Given the description of an element on the screen output the (x, y) to click on. 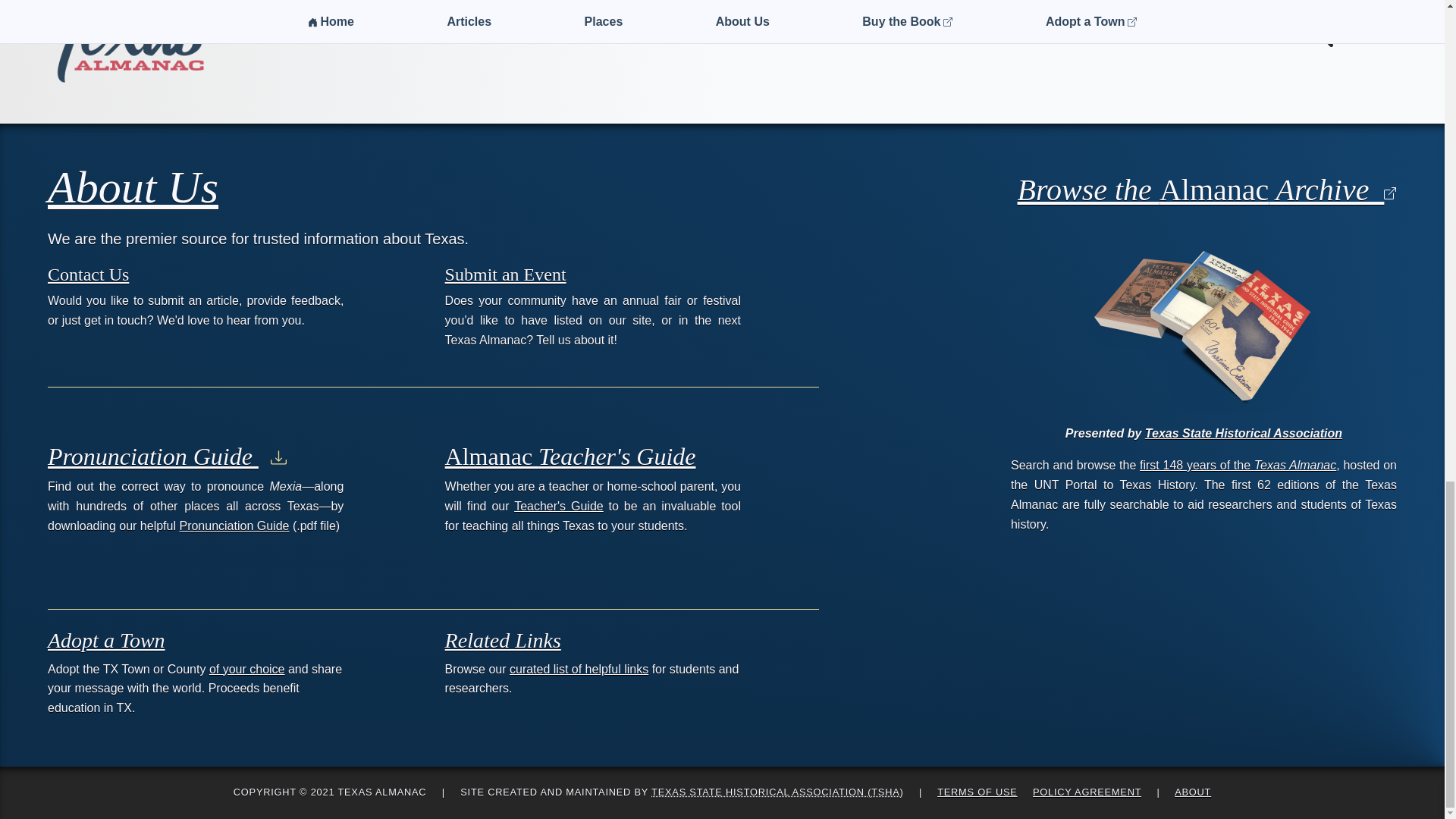
Teacher's Guide (558, 505)
Contact Us (88, 273)
Pronunciation Guide (167, 456)
Almanac Teacher's Guide (570, 456)
About Us (133, 187)
Submit an Event (505, 273)
Pronunciation Guide (233, 525)
Site Search (1352, 32)
